Given the description of an element on the screen output the (x, y) to click on. 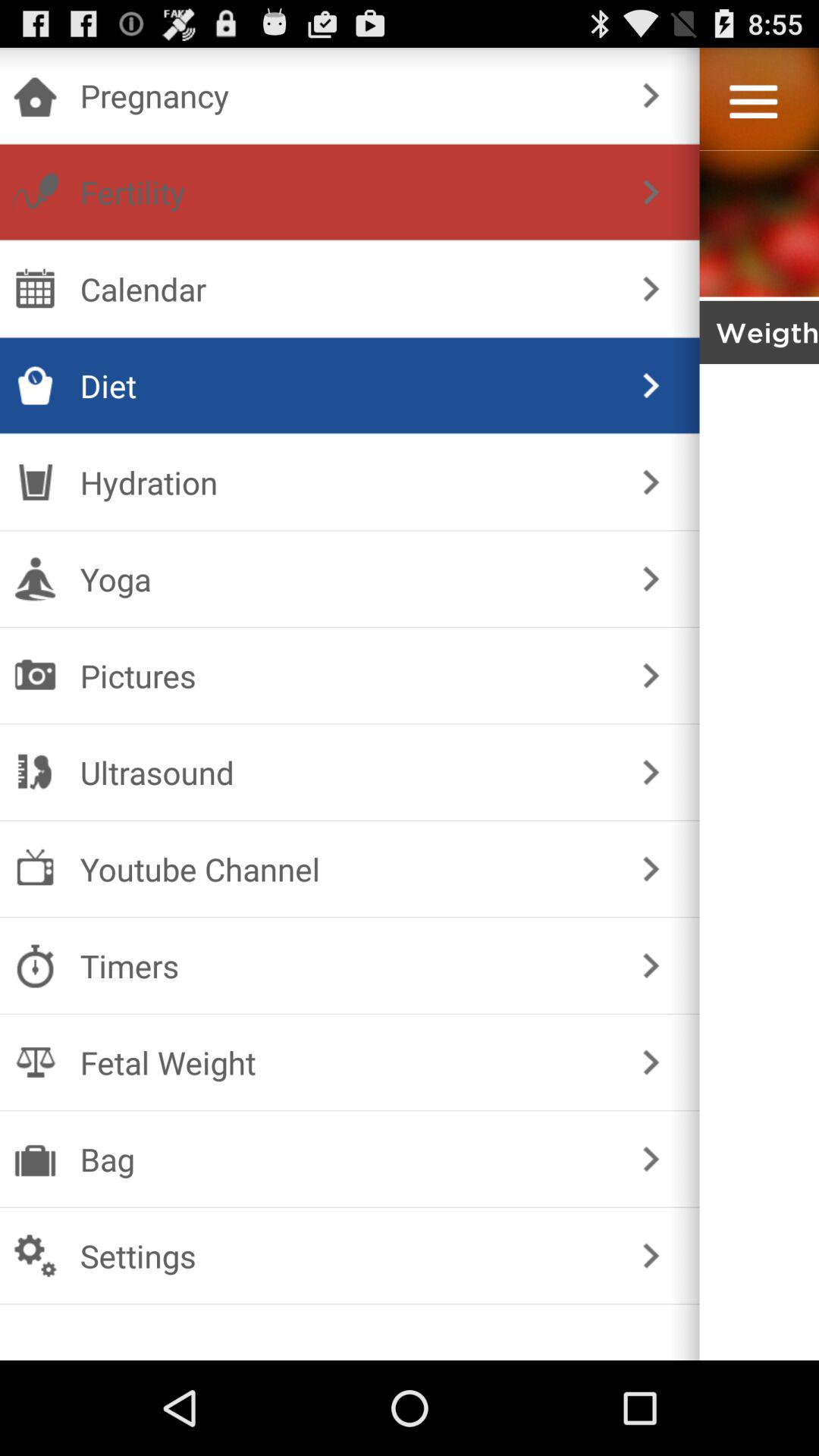
scroll until fetal weight checkbox (346, 1062)
